Given the description of an element on the screen output the (x, y) to click on. 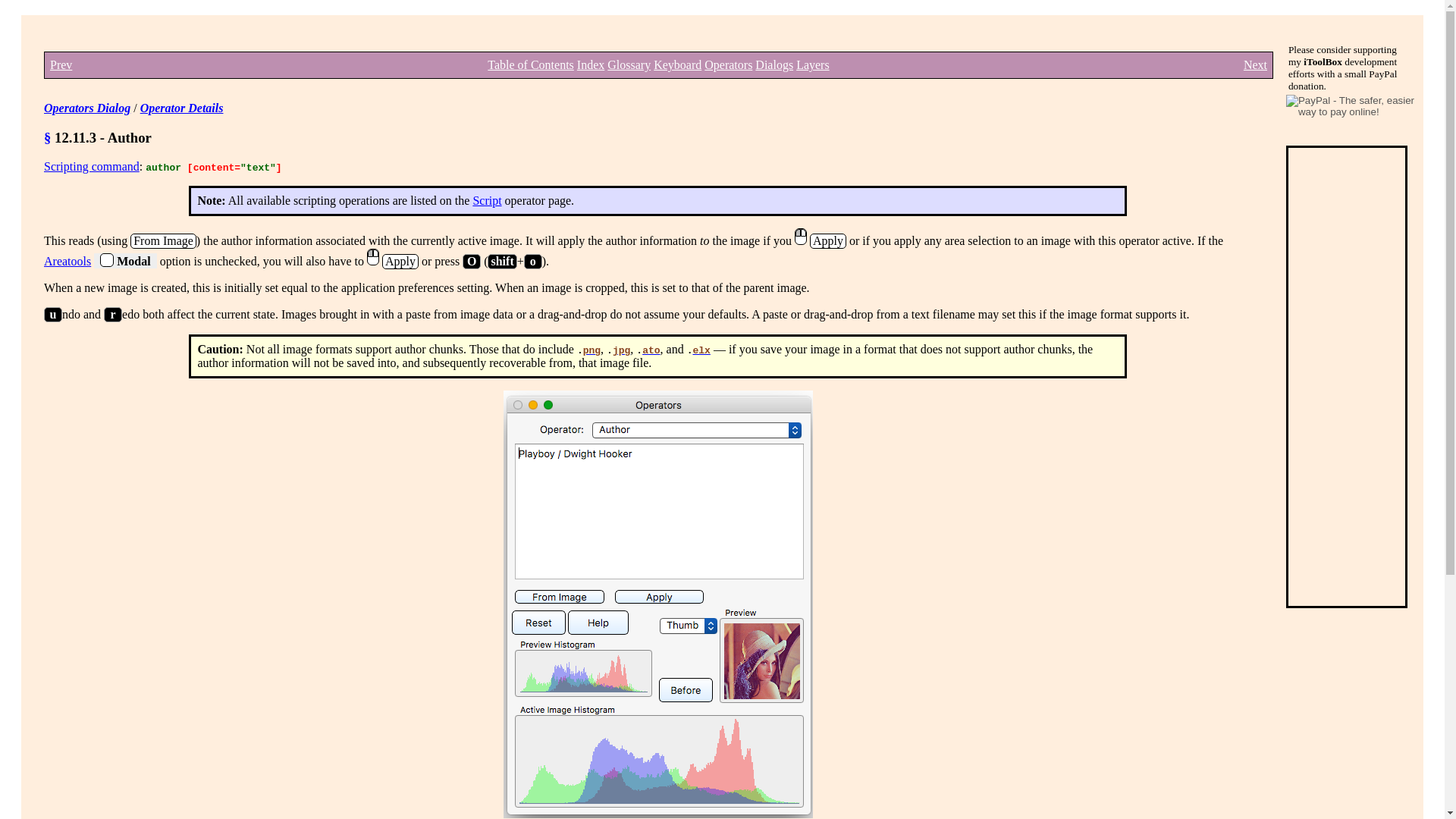
Prev (60, 64)
Operators (728, 64)
Script (485, 200)
Dialogs (774, 64)
Areatools (66, 260)
Scripting command (91, 165)
ato (650, 350)
Table of Contents (530, 64)
Glossary (628, 64)
Next (1254, 64)
jpg (621, 350)
png (591, 350)
Layers (812, 64)
Keyboard (677, 64)
Index (590, 64)
